Given the description of an element on the screen output the (x, y) to click on. 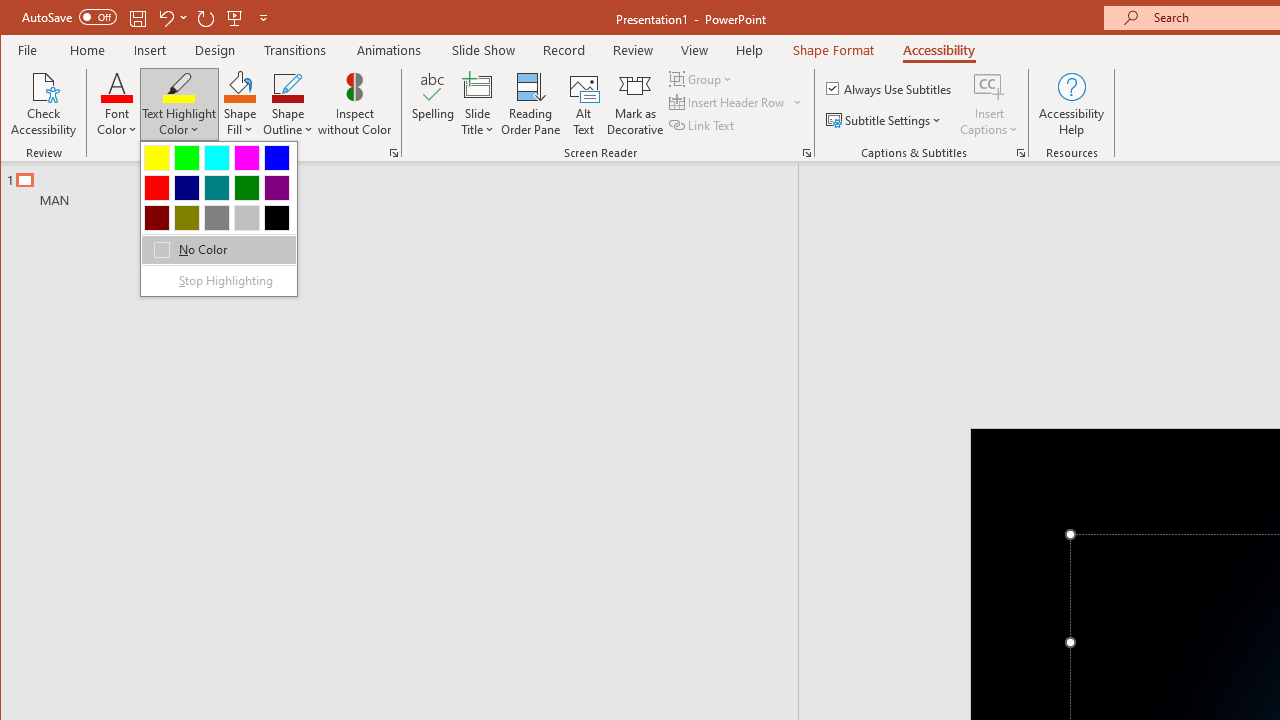
Slide Title (477, 86)
Inspect without Color (355, 104)
Shape Fill Orange, Accent 2 (239, 86)
Accessibility Help (1071, 104)
Reading Order Pane (531, 104)
Link Text (703, 124)
Shape Outline Blue, Accent 1 (288, 86)
